Given the description of an element on the screen output the (x, y) to click on. 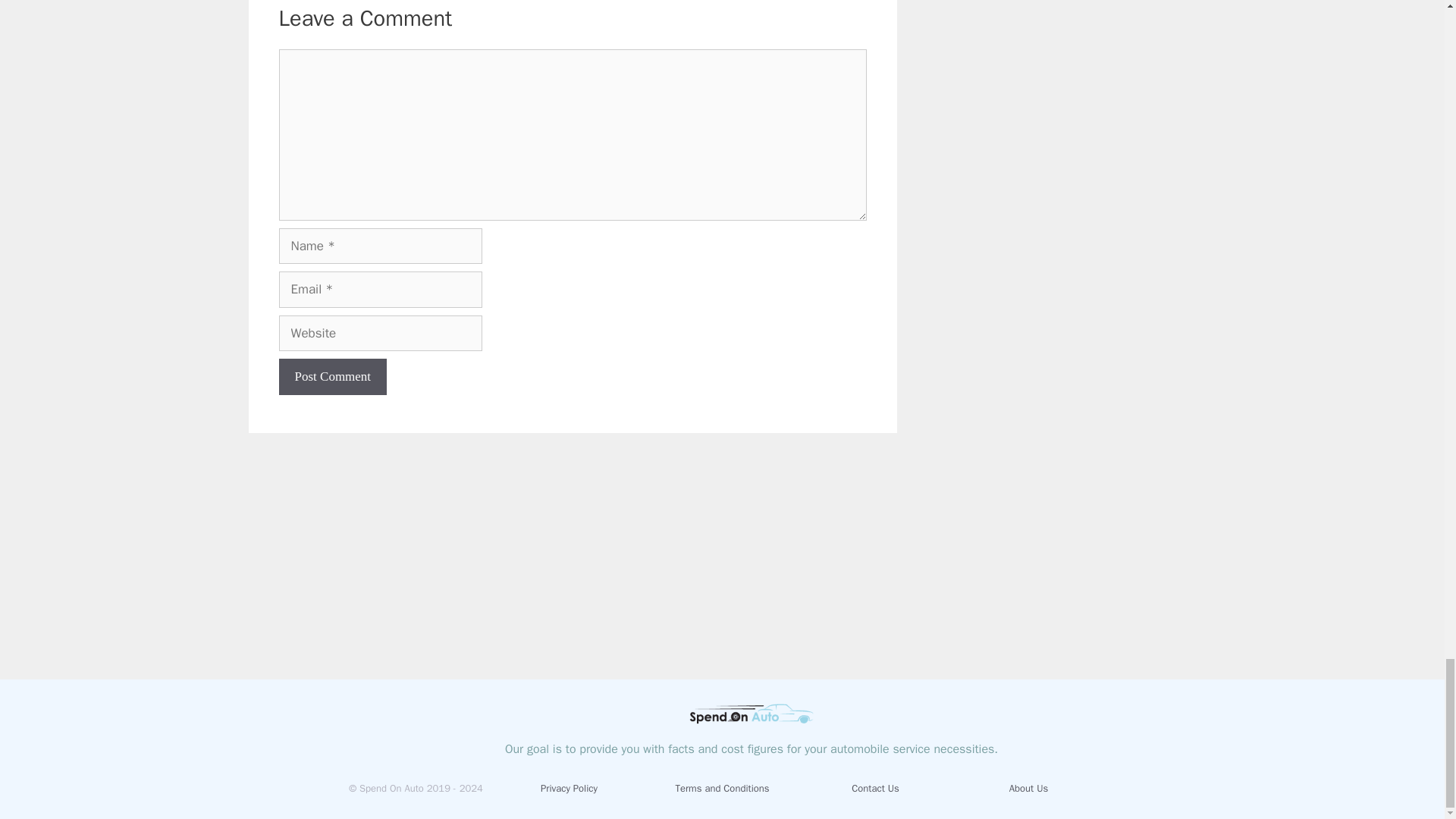
Post Comment (333, 376)
Post Comment (333, 376)
